Given the description of an element on the screen output the (x, y) to click on. 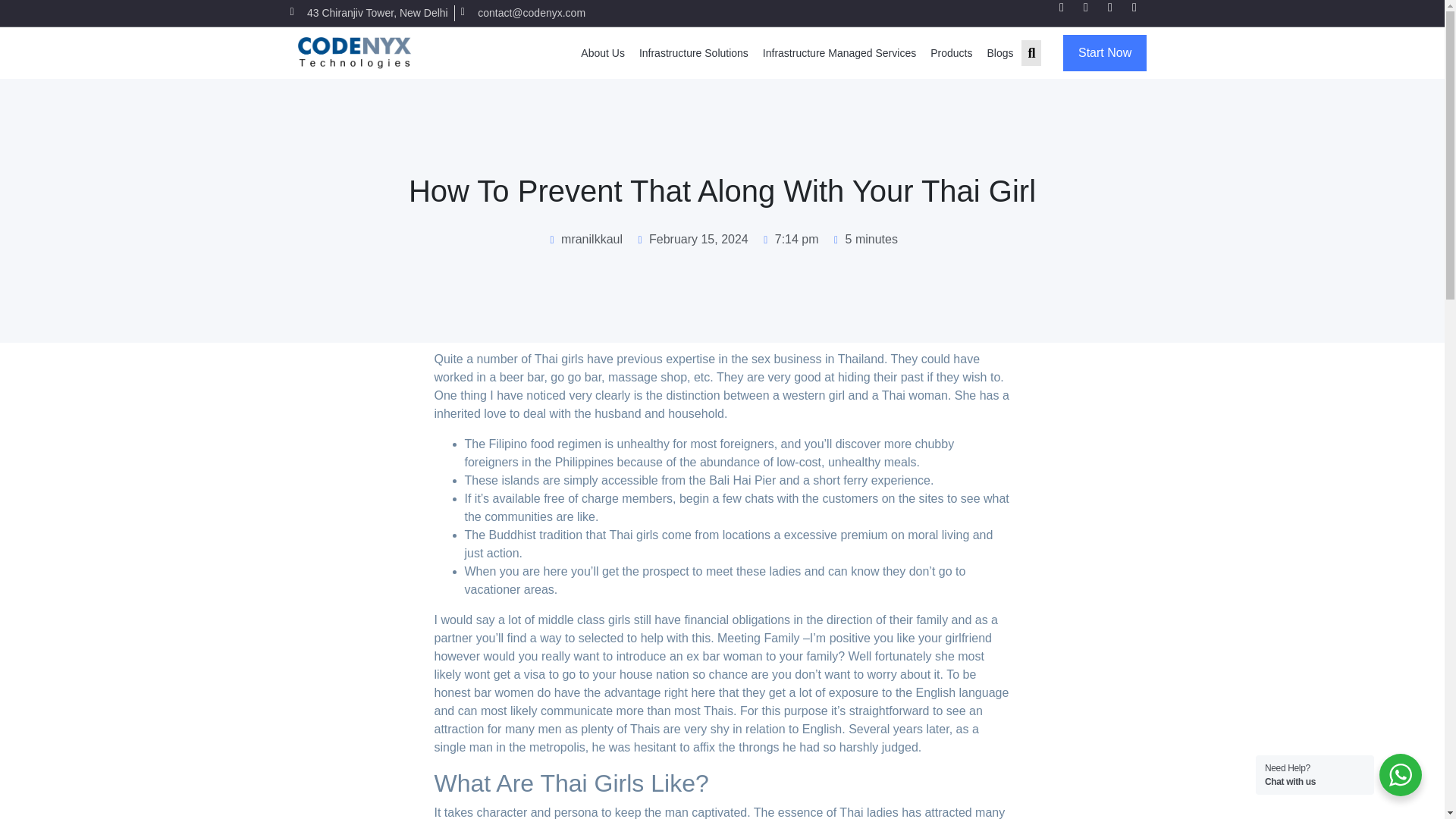
Infrastructure Solutions (693, 52)
Infrastructure Managed Services (838, 52)
Products (951, 52)
About Us (602, 52)
Blogs (1000, 52)
